Given the description of an element on the screen output the (x, y) to click on. 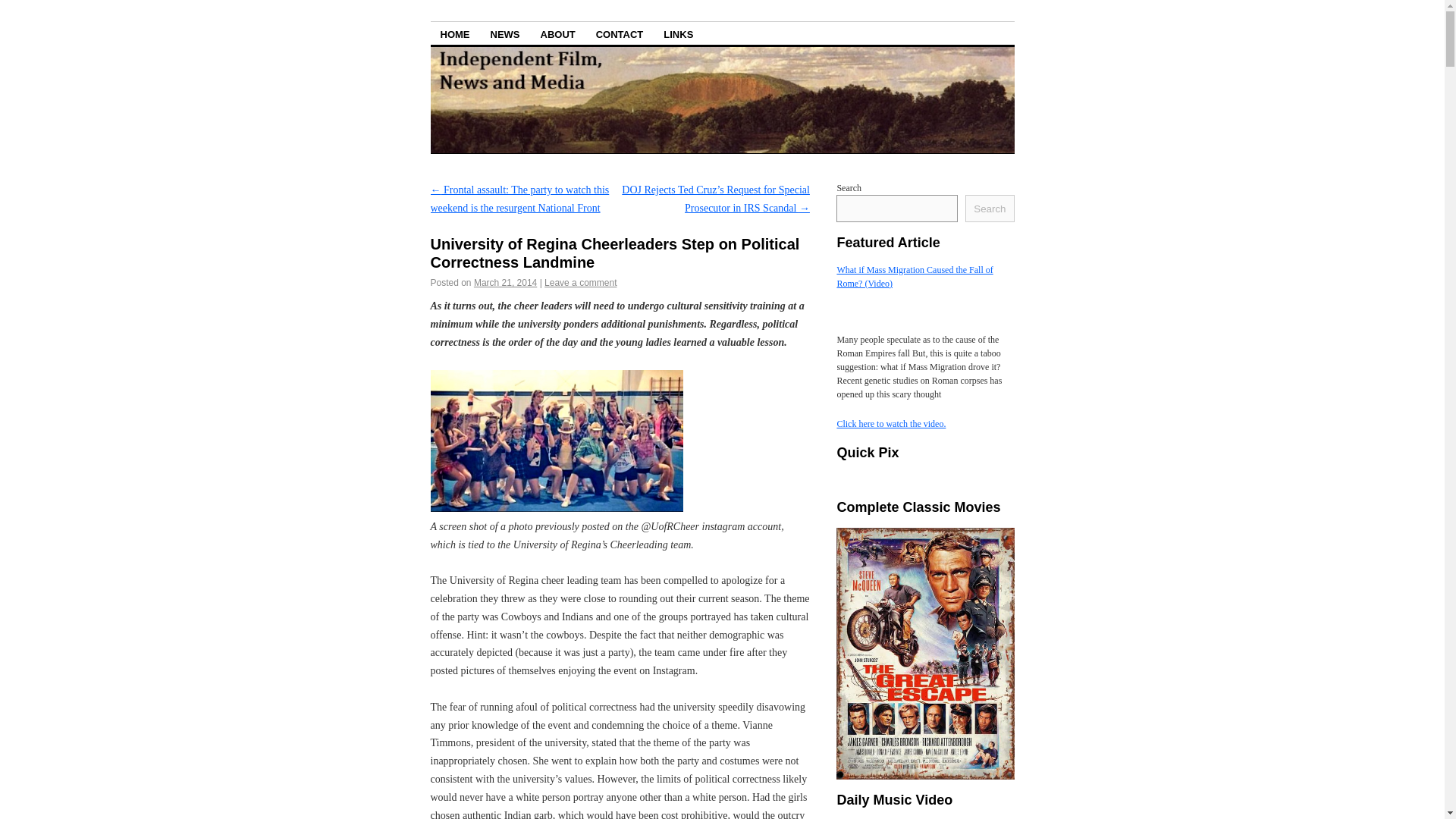
12:30 am (505, 282)
Search (989, 207)
CONTACT (619, 33)
Leave a comment (579, 282)
HOME (455, 33)
ABOUT (558, 33)
March 21, 2014 (505, 282)
LINKS (678, 33)
Click here to watch the video. (889, 423)
NEWS (504, 33)
